Given the description of an element on the screen output the (x, y) to click on. 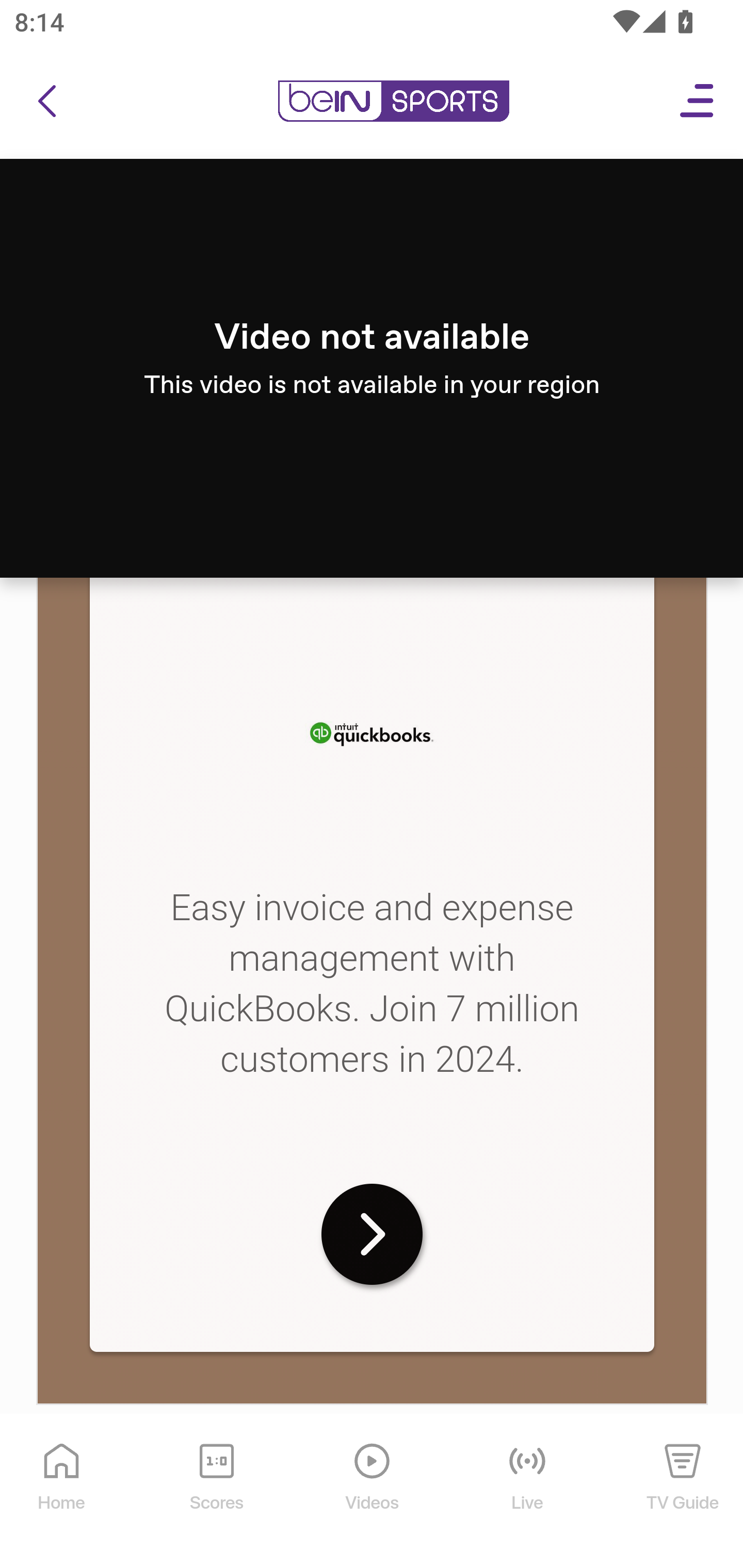
en-us?platform=mobile_android bein logo (392, 101)
icon back (46, 101)
Open Menu Icon (697, 101)
%3Fcid%3Dppc_ROW_%7Bdscampaign%7D%26gclsrc%3Daw (371, 731)
%3Fcid%3Dppc_ROW_%7Bdscampaign%7D%26gclsrc%3Daw (371, 1235)
Home Home Icon Home (61, 1491)
Scores Scores Icon Scores (216, 1491)
Videos Videos Icon Videos (372, 1491)
TV Guide TV Guide Icon TV Guide (682, 1491)
